Given the description of an element on the screen output the (x, y) to click on. 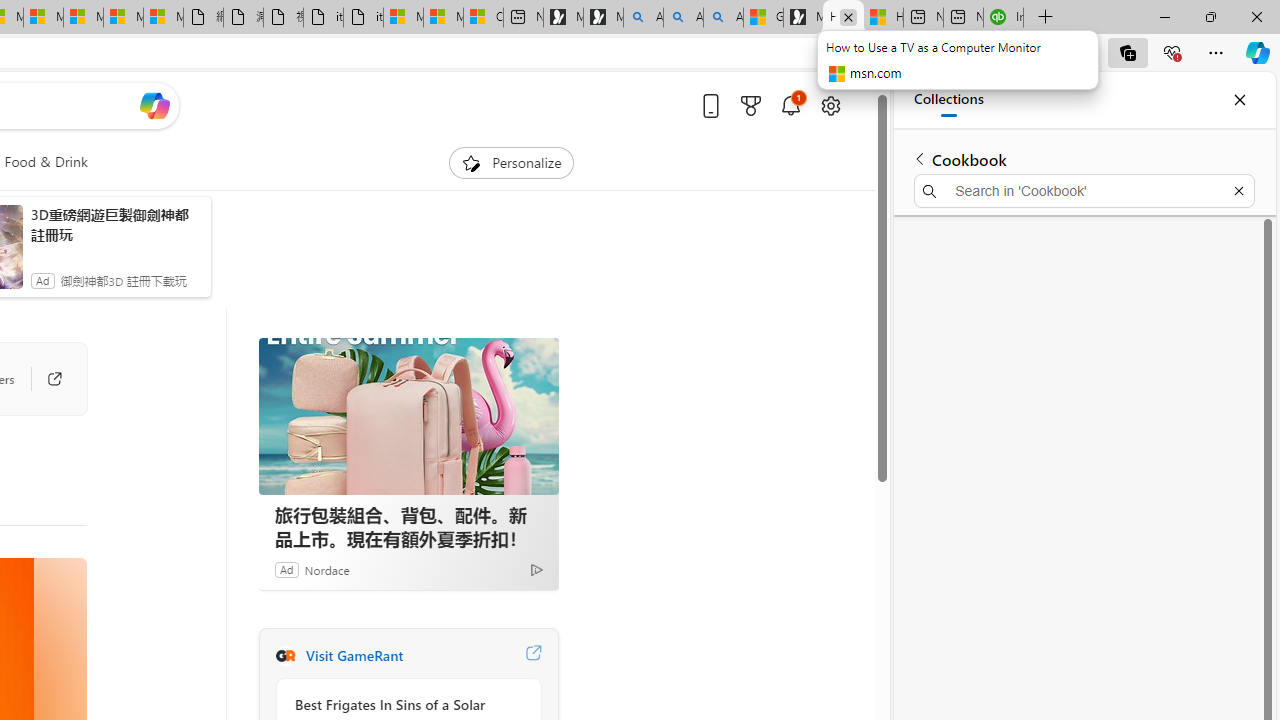
Intuit QuickBooks Online - Quickbooks (1003, 17)
Back to list of collections (920, 158)
Open settings (830, 105)
